Given the description of an element on the screen output the (x, y) to click on. 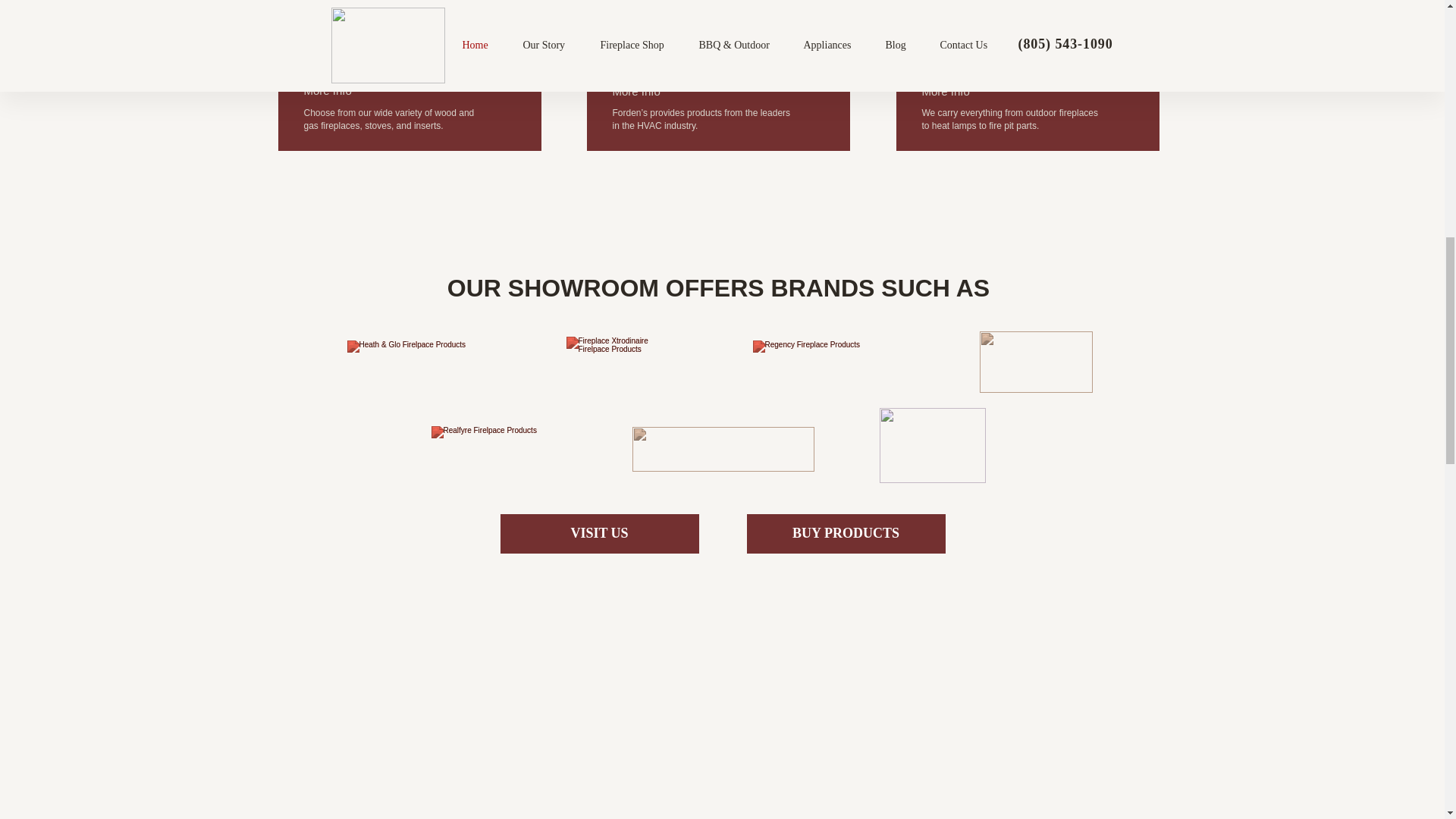
More Info (326, 91)
More Info (945, 91)
